Given the description of an element on the screen output the (x, y) to click on. 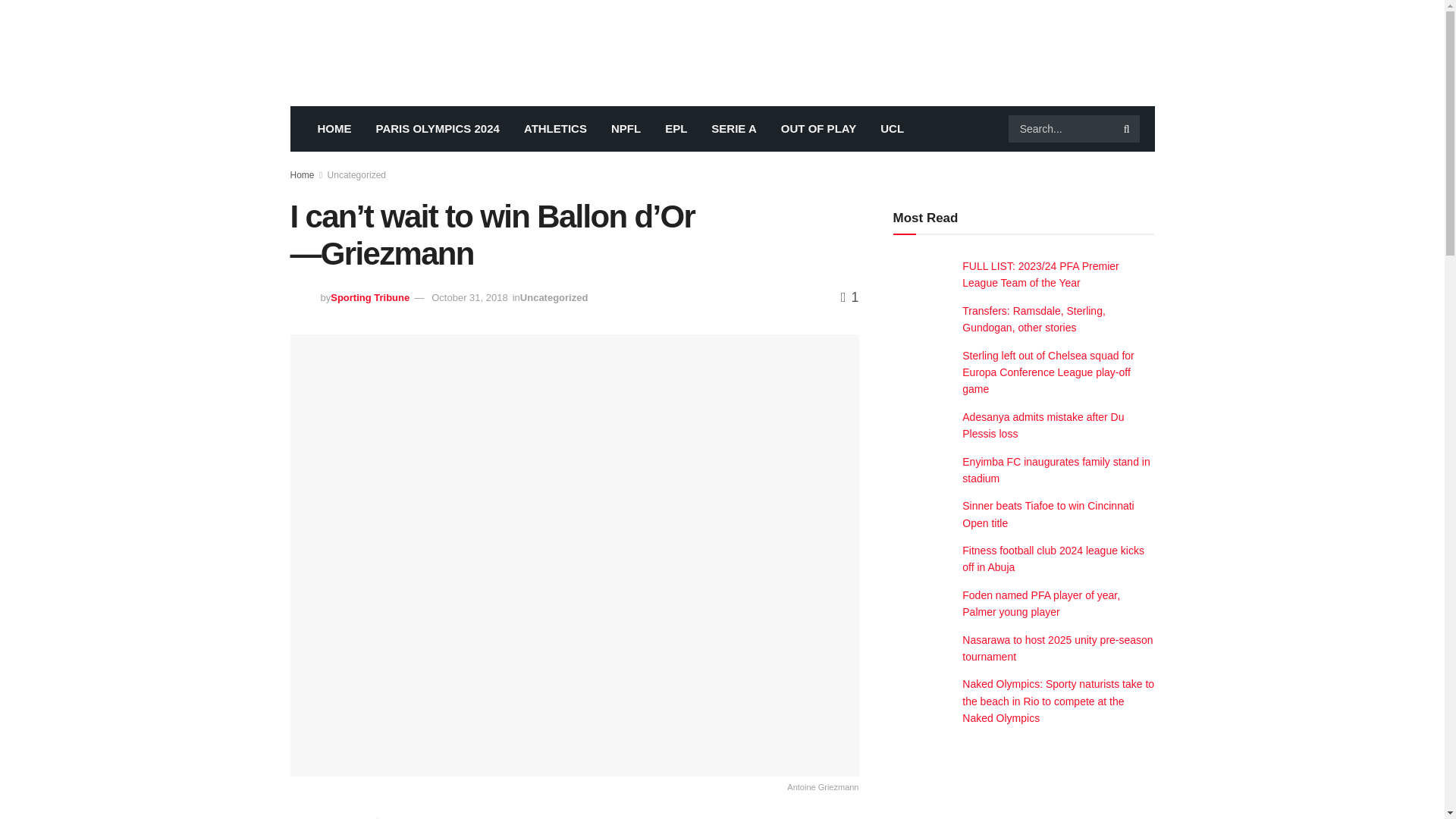
Enyimba FC inaugurates family stand in stadium (1056, 469)
Uncategorized (356, 174)
Adesanya admits mistake after Du Plessis loss (1043, 425)
Uncategorized (553, 297)
Home (301, 174)
October 31, 2018 (468, 297)
OUT OF PLAY (817, 128)
PARIS OLYMPICS 2024 (438, 128)
1 (850, 296)
UCL (891, 128)
